Given the description of an element on the screen output the (x, y) to click on. 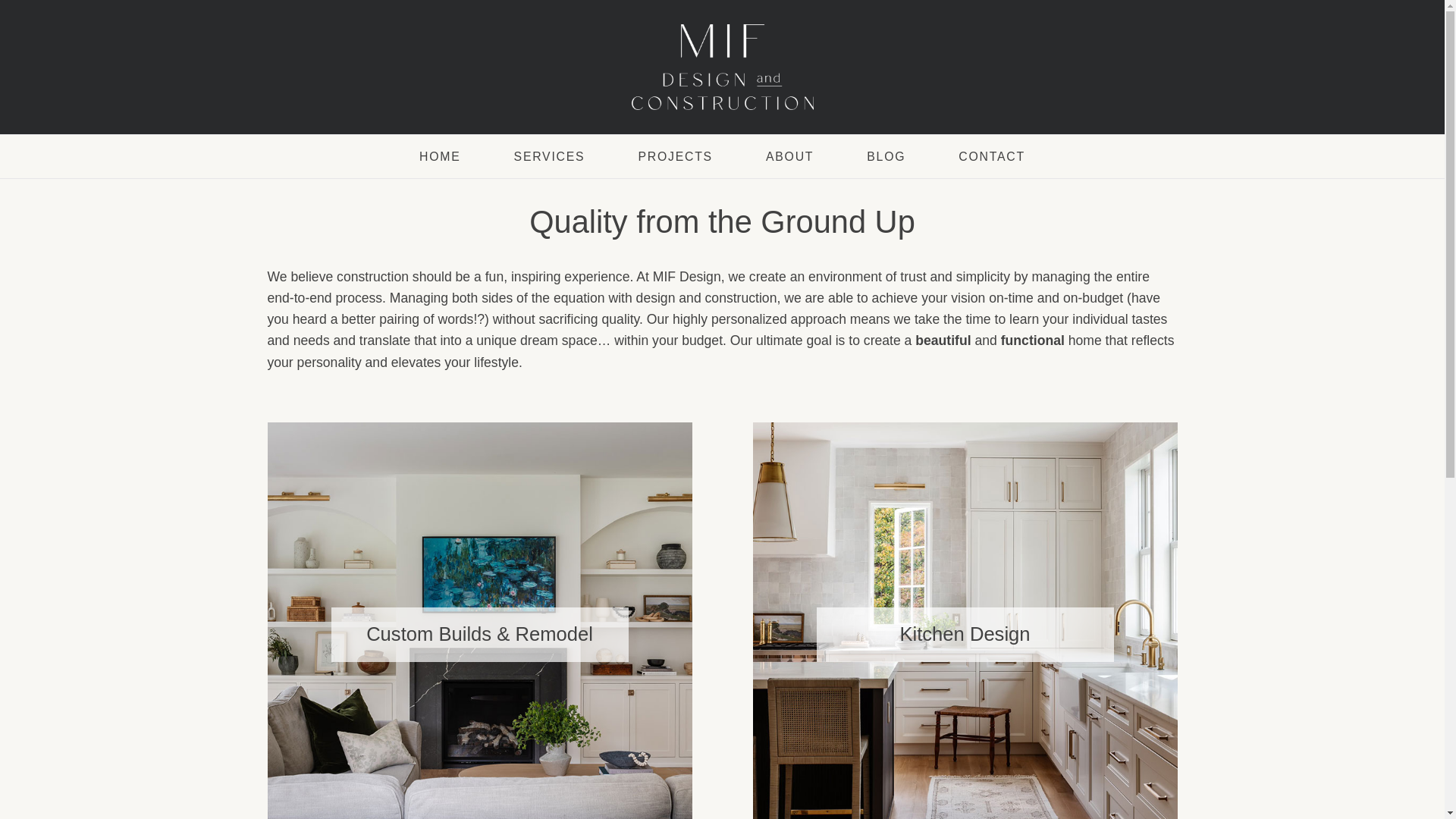
SERVICES (548, 156)
CONTACT (991, 156)
HOME (439, 156)
PROJECTS (675, 156)
ABOUT (789, 156)
BLOG (886, 156)
